Given the description of an element on the screen output the (x, y) to click on. 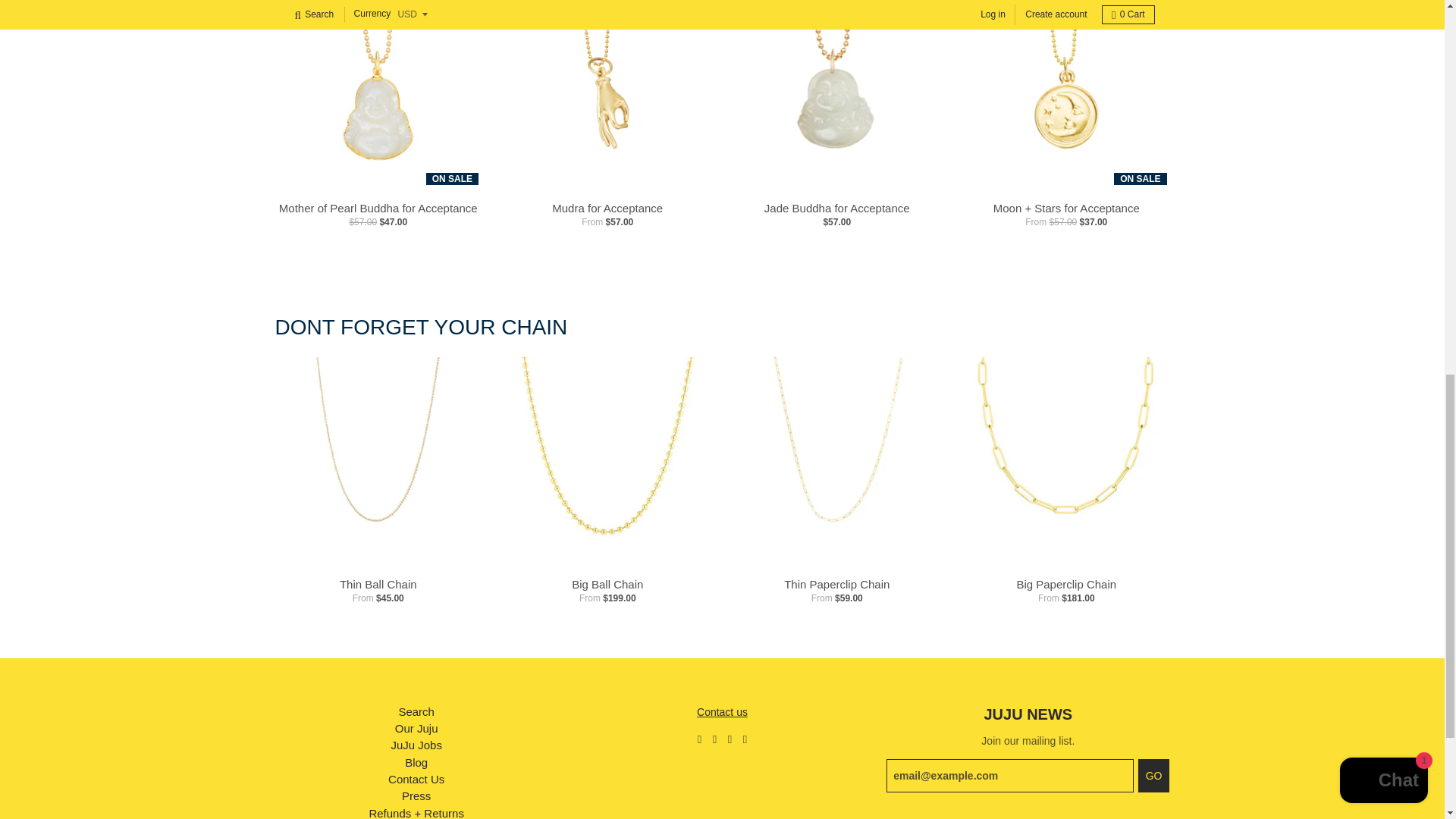
JuJu Supply Co. on Facebook (714, 737)
JuJu Supply Co. on Twitter (699, 737)
JuJu Supply Co. on Pinterest (744, 737)
JuJu Supply Co. on Instagram (730, 737)
